Given the description of an element on the screen output the (x, y) to click on. 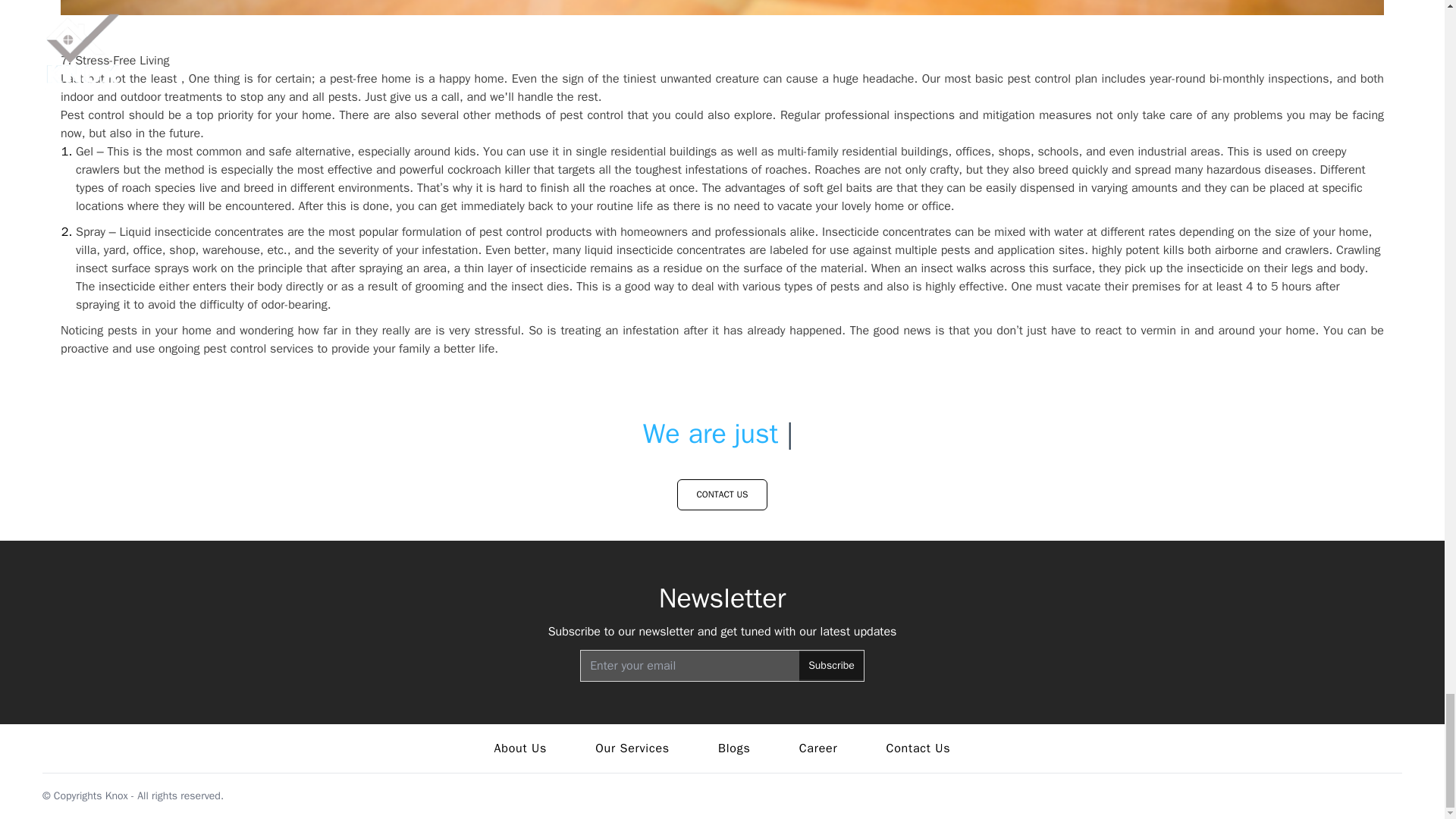
Contact Us (917, 748)
Subscribe (831, 665)
Blogs (734, 748)
Career (818, 748)
methods of pest control (559, 114)
CONTACT US (722, 494)
About Us (521, 748)
Our Services (632, 748)
